Given the description of an element on the screen output the (x, y) to click on. 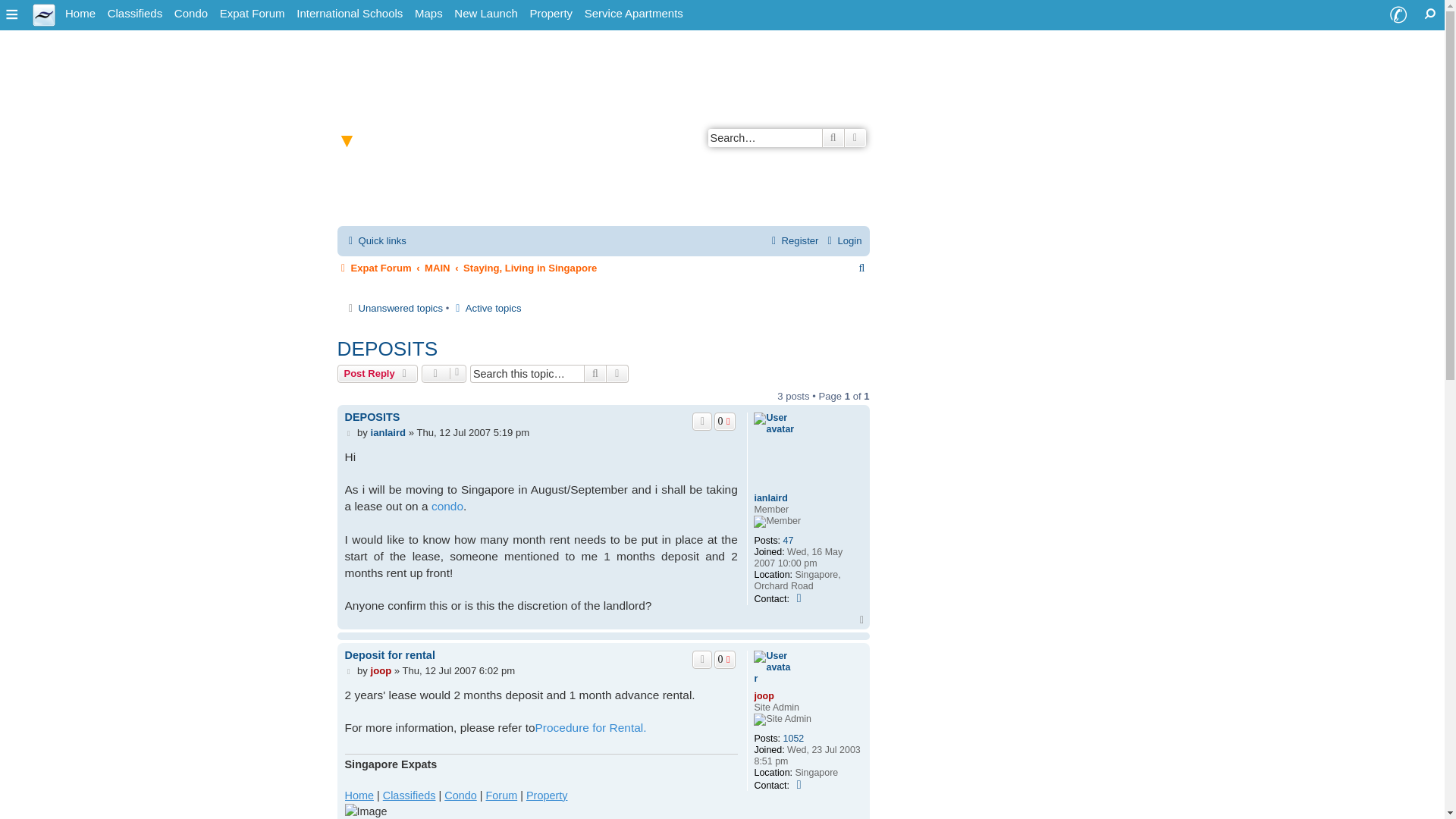
Service Apartments (633, 13)
Classifieds (135, 13)
New Launch (485, 13)
Home (80, 13)
Maps (428, 13)
Condo (191, 13)
Singapore International Schools (349, 13)
New Property Launch (485, 13)
Contact Us (1397, 15)
Singapore Expats (80, 13)
